Given the description of an element on the screen output the (x, y) to click on. 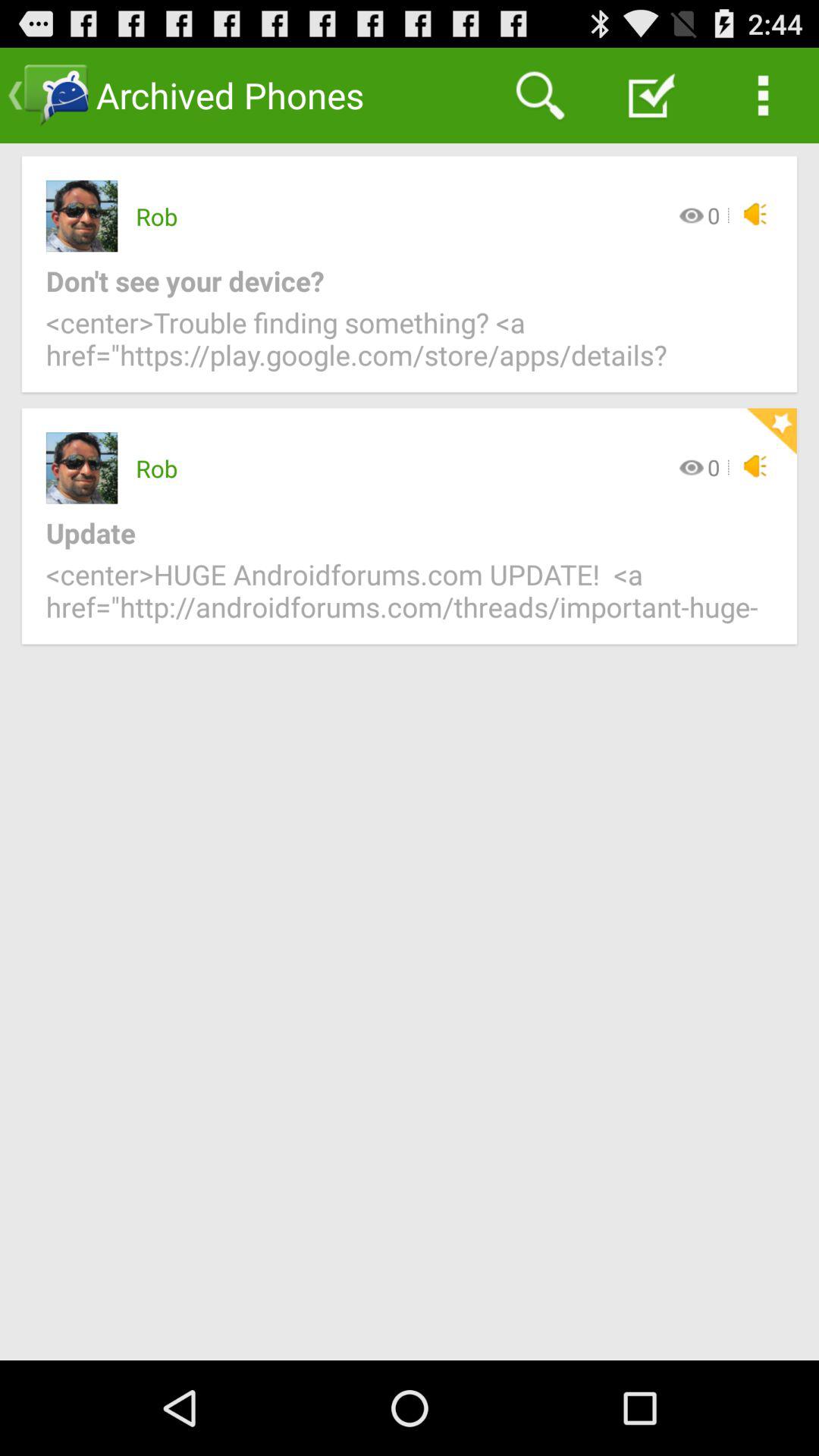
turn on icon next to the archived phones item (540, 95)
